Given the description of an element on the screen output the (x, y) to click on. 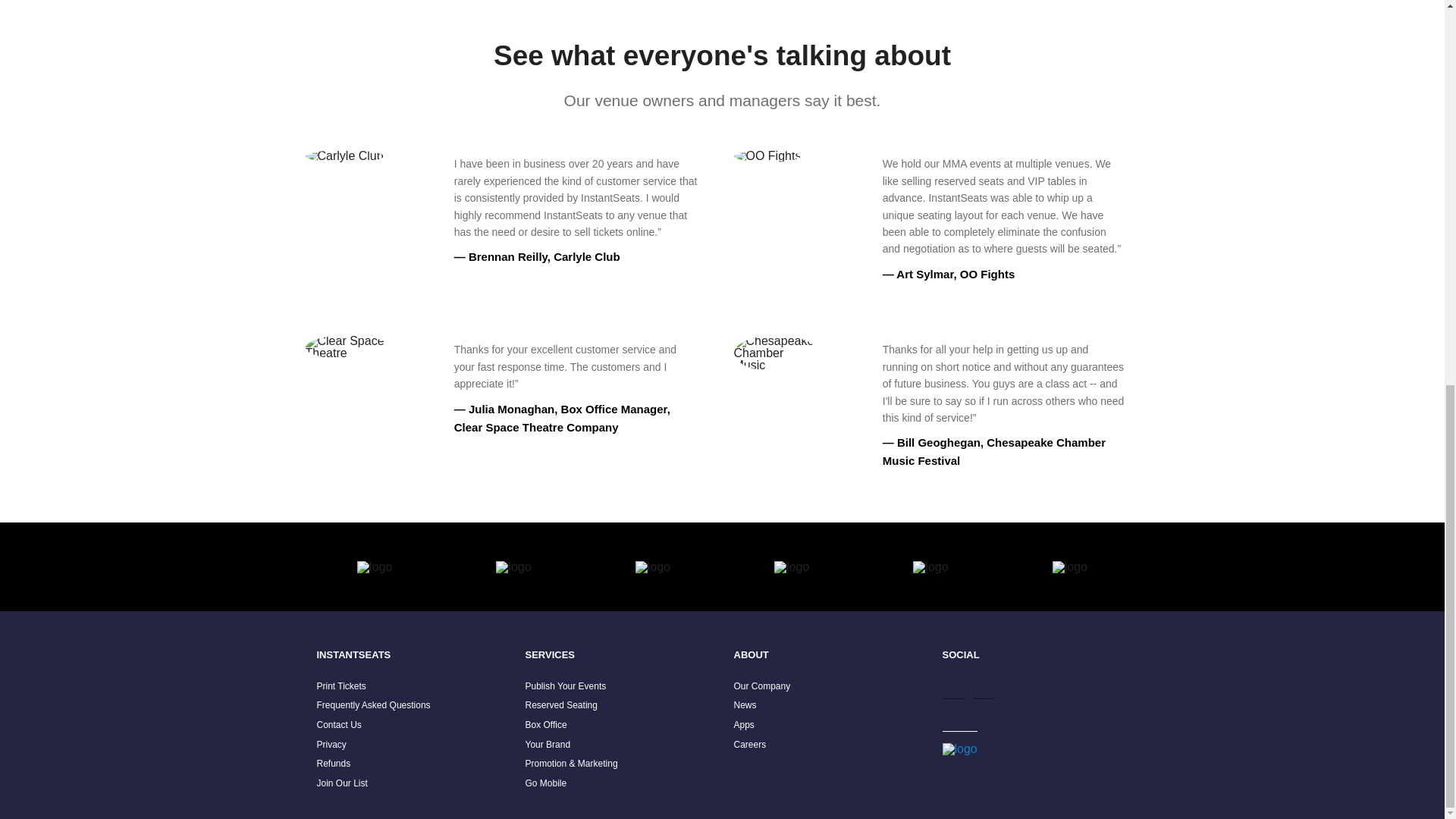
Privacy (331, 744)
Contact Us (339, 724)
Careers (750, 744)
Apps (743, 724)
Box Office (545, 724)
Publish Your Events (564, 685)
Reserved Seating (560, 705)
Join Our List (342, 783)
Your Brand (547, 744)
Print Tickets (341, 685)
Our Company (761, 685)
Frequently Asked Questions (373, 705)
Refunds (333, 763)
News (745, 705)
Go Mobile (545, 783)
